Given the description of an element on the screen output the (x, y) to click on. 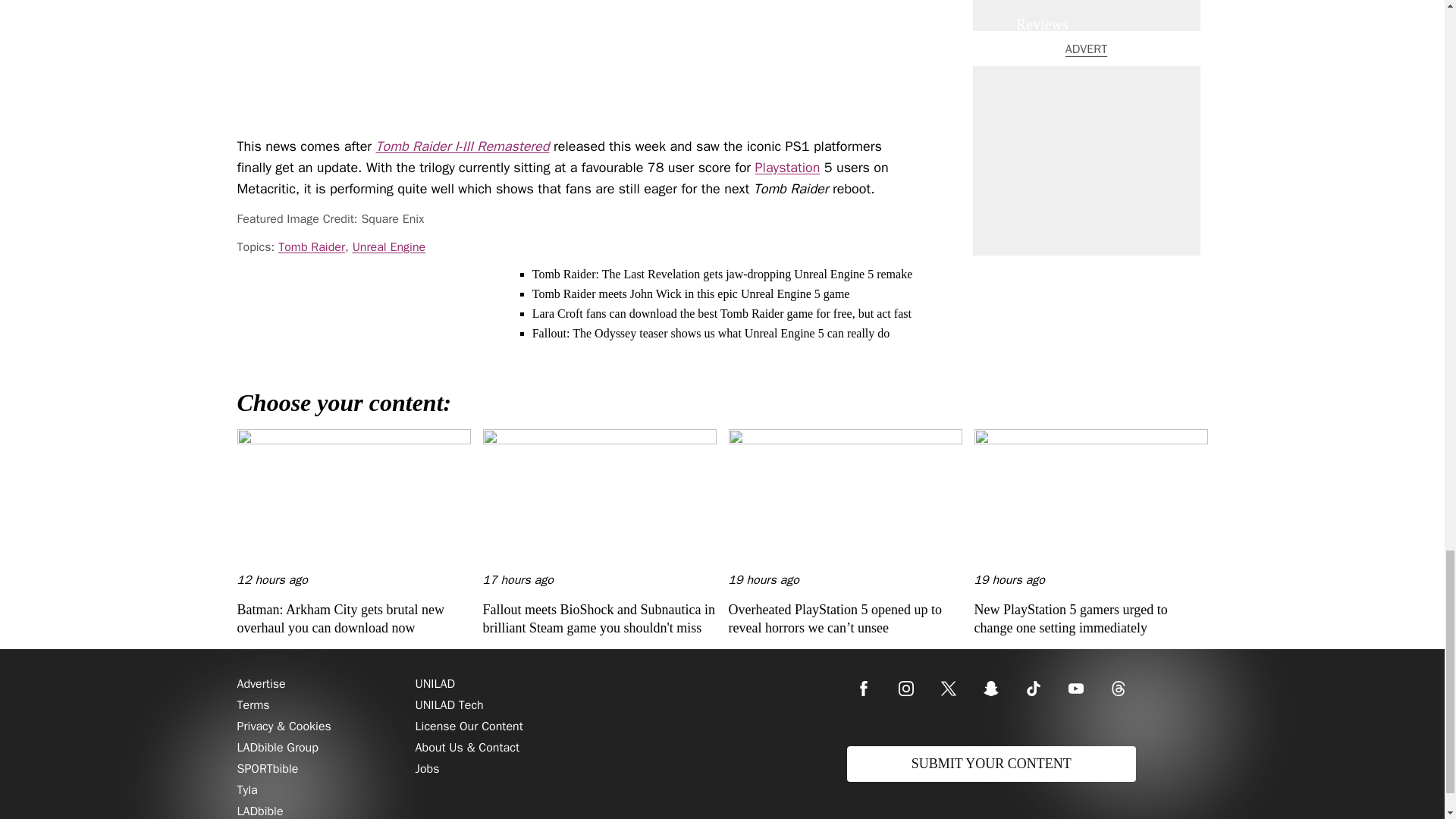
Unreal Engine (389, 246)
Tomb Raider I-III Remastered (462, 145)
Playstation (788, 166)
Tomb Raider (311, 246)
Advertise (260, 684)
